Given the description of an element on the screen output the (x, y) to click on. 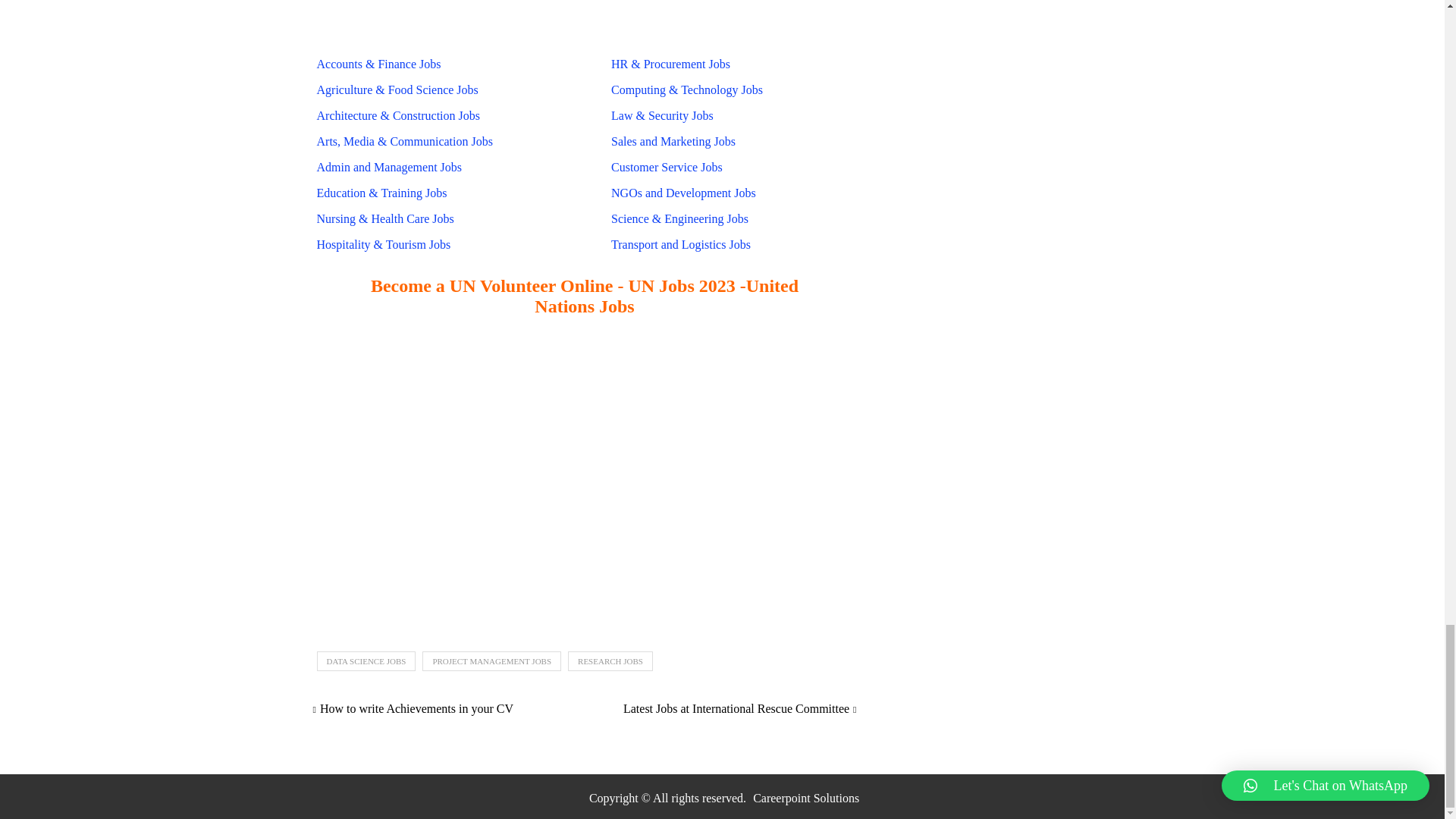
How to write Achievements in your CV (412, 708)
NGOs and Development Jobs (683, 192)
Transport and Logistics Jobs (680, 244)
PROJECT MANAGEMENT JOBS (491, 660)
Admin and Management Jobs (389, 167)
Sales and Marketing Jobs (673, 141)
DATA SCIENCE JOBS (366, 660)
Latest Jobs at International Rescue Committee (740, 708)
RESEARCH JOBS (609, 660)
Customer Service Jobs (666, 167)
